Given the description of an element on the screen output the (x, y) to click on. 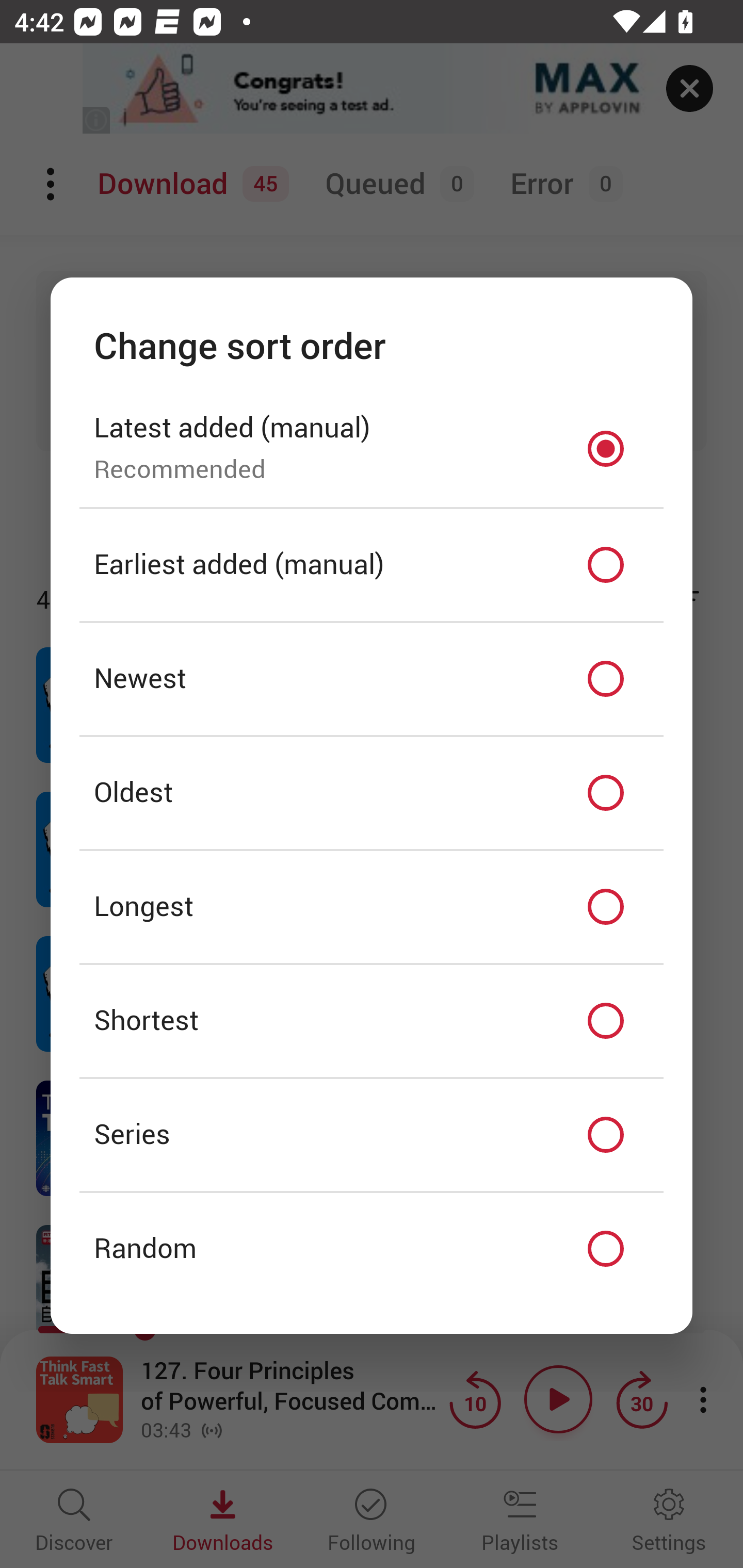
Latest added (manual) Recommended (371, 448)
Earliest added (manual) (371, 564)
Newest (371, 678)
Oldest (371, 792)
Longest (371, 906)
Shortest (371, 1020)
Series (371, 1134)
Random (371, 1248)
